Given the description of an element on the screen output the (x, y) to click on. 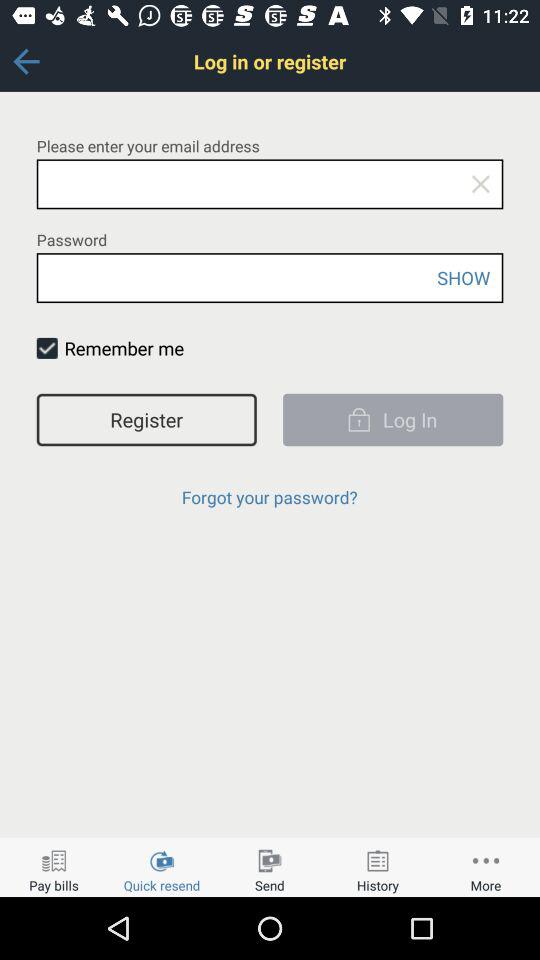
tap the icon above the password icon (480, 184)
